Given the description of an element on the screen output the (x, y) to click on. 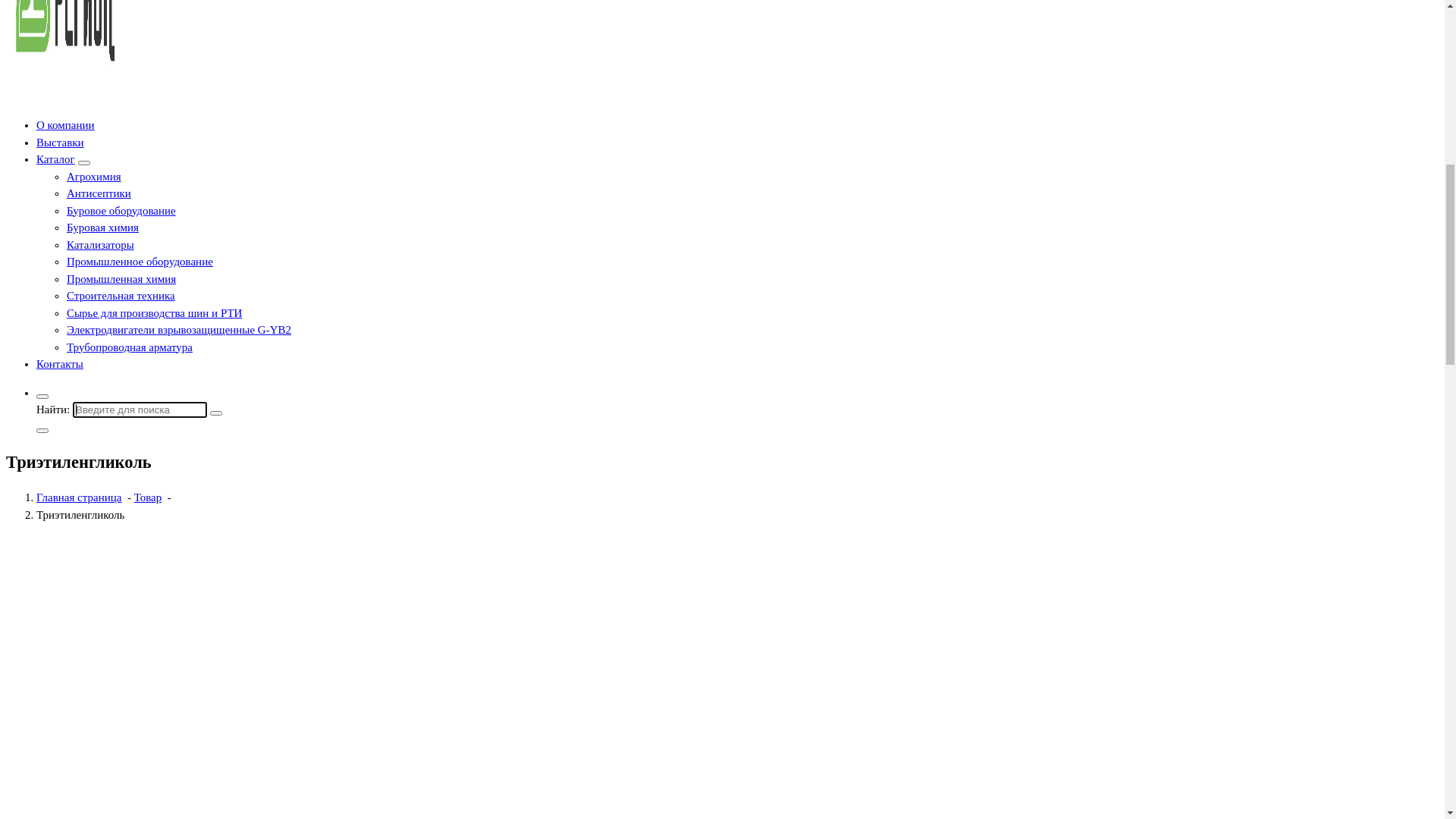
+ 7 984 197 77 47 Element type: text (47, 48)
info@25region.com Element type: text (51, 31)
